Given the description of an element on the screen output the (x, y) to click on. 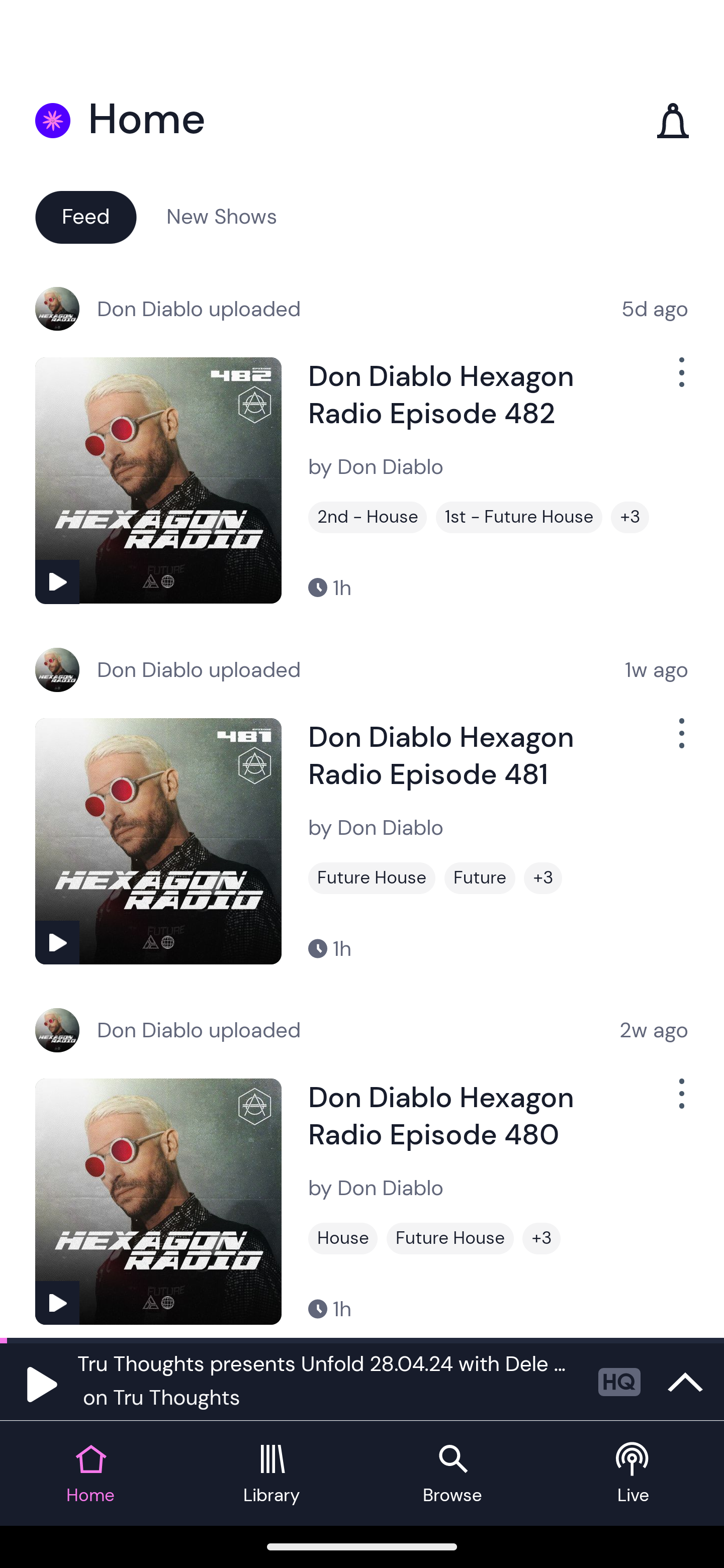
Feed (85, 216)
New Shows (221, 216)
Show Options Menu Button (679, 379)
2nd - House (367, 517)
1st - Future House (518, 517)
Show Options Menu Button (679, 740)
Future House (371, 877)
Future (479, 877)
Show Options Menu Button (679, 1101)
House (342, 1238)
Future House (450, 1238)
Home tab Home (90, 1473)
Library tab Library (271, 1473)
Browse tab Browse (452, 1473)
Live tab Live (633, 1473)
